Given the description of an element on the screen output the (x, y) to click on. 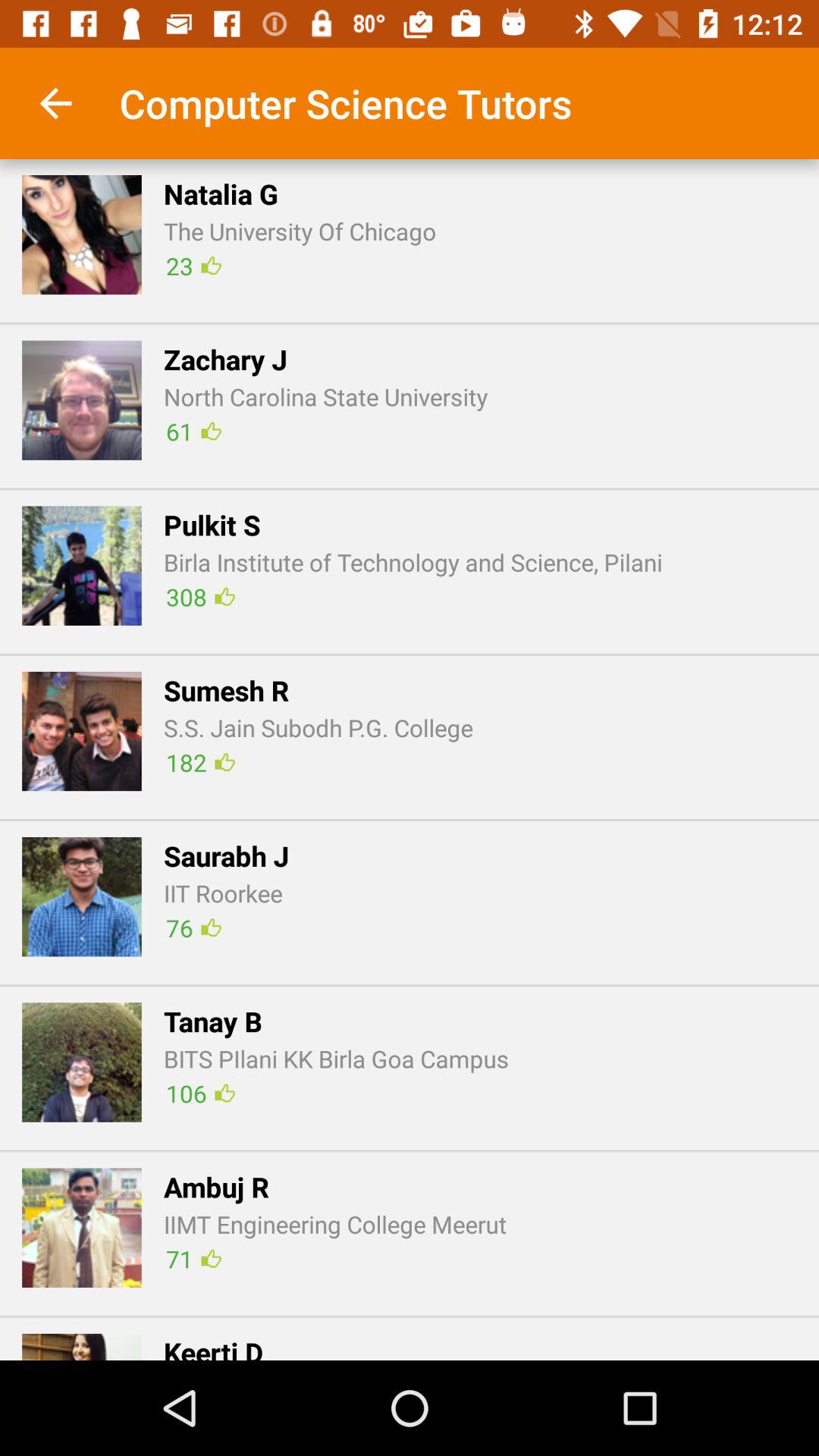
choose icon next to the zachary j (81, 400)
